Given the description of an element on the screen output the (x, y) to click on. 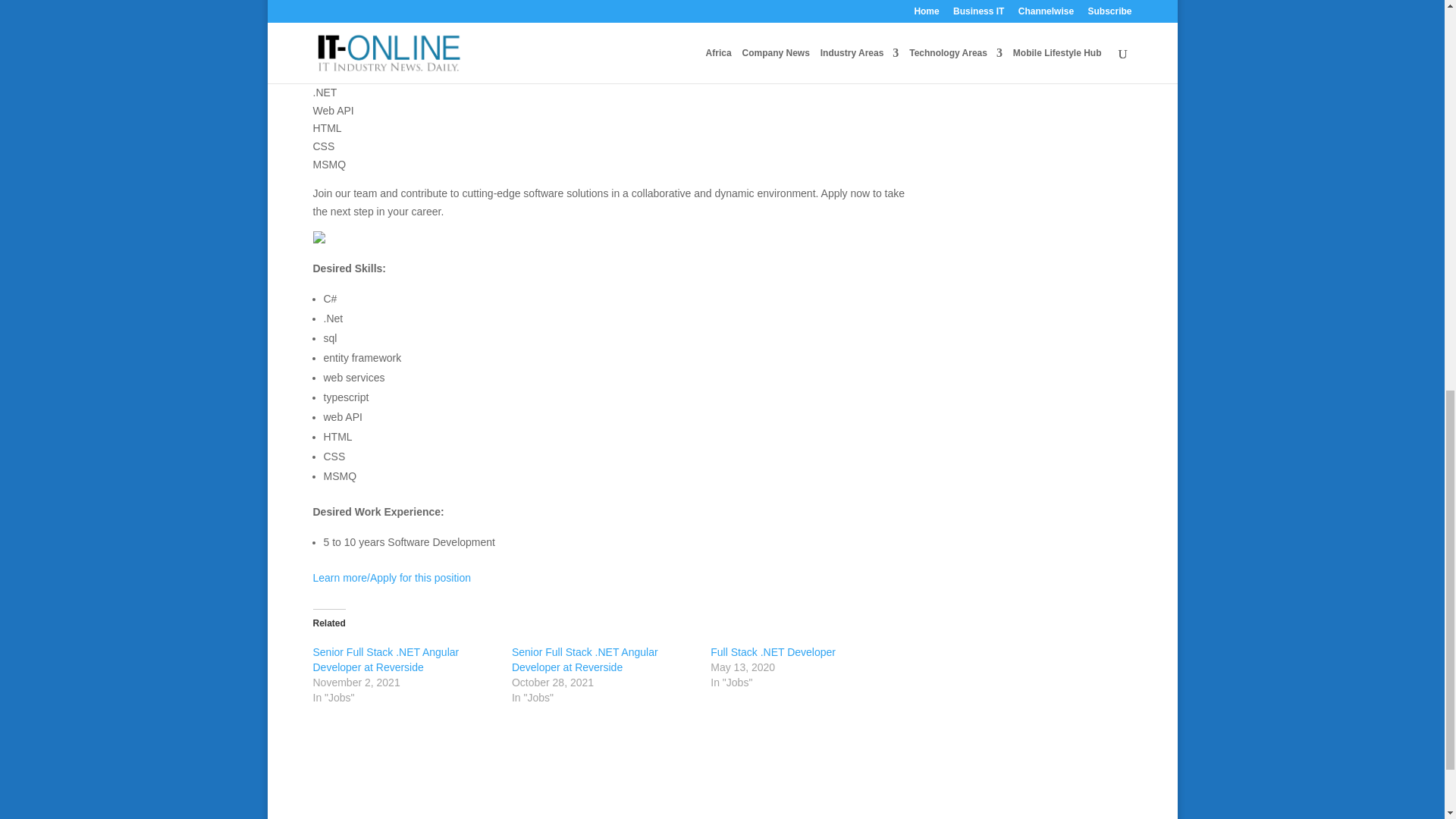
Senior Full Stack .NET Angular Developer at Reverside (385, 659)
Full Stack .NET Developer (772, 652)
Senior Full Stack .NET Angular Developer at Reverside (585, 659)
